Given the description of an element on the screen output the (x, y) to click on. 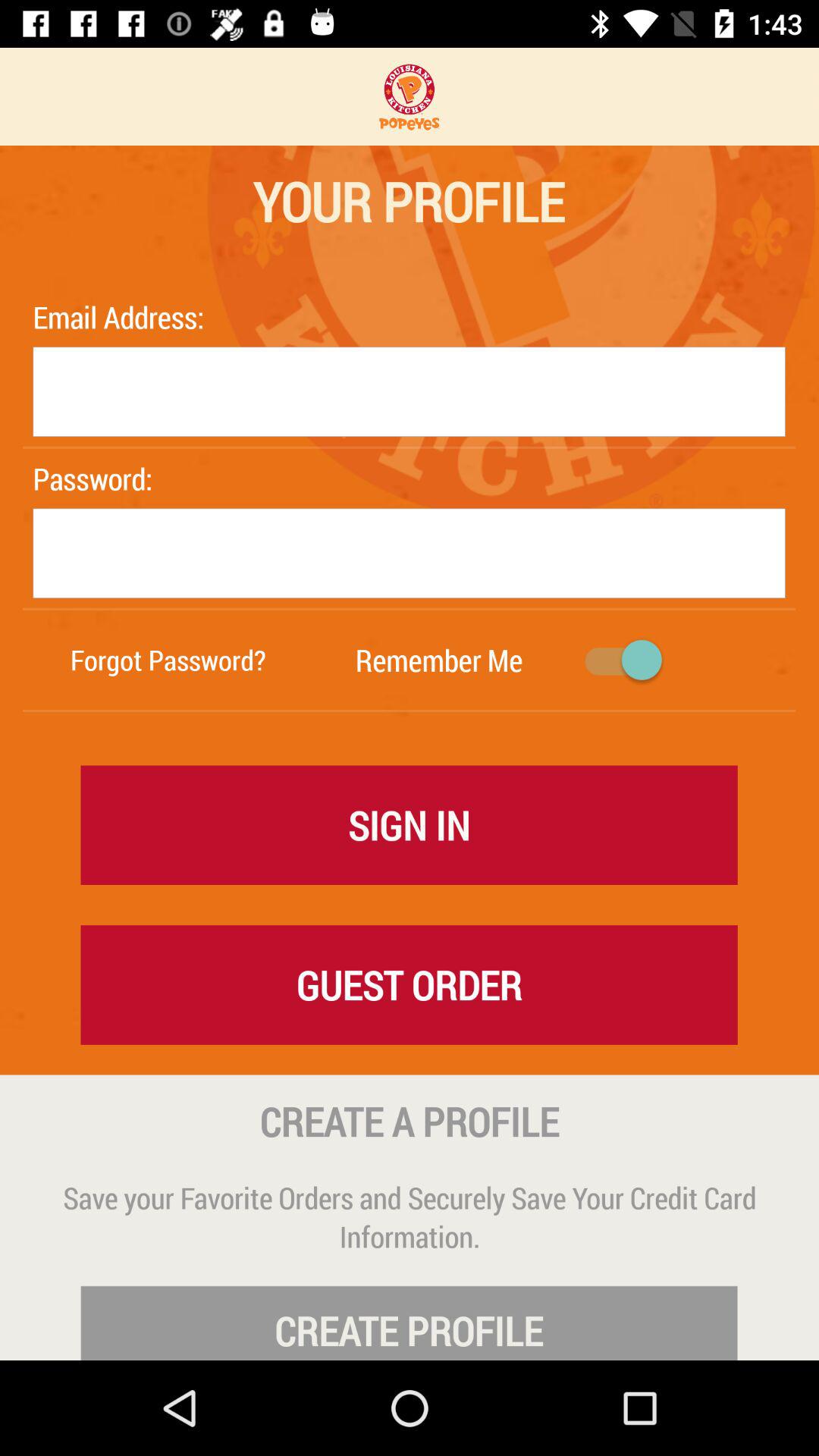
swipe to the password: (122, 478)
